Given the description of an element on the screen output the (x, y) to click on. 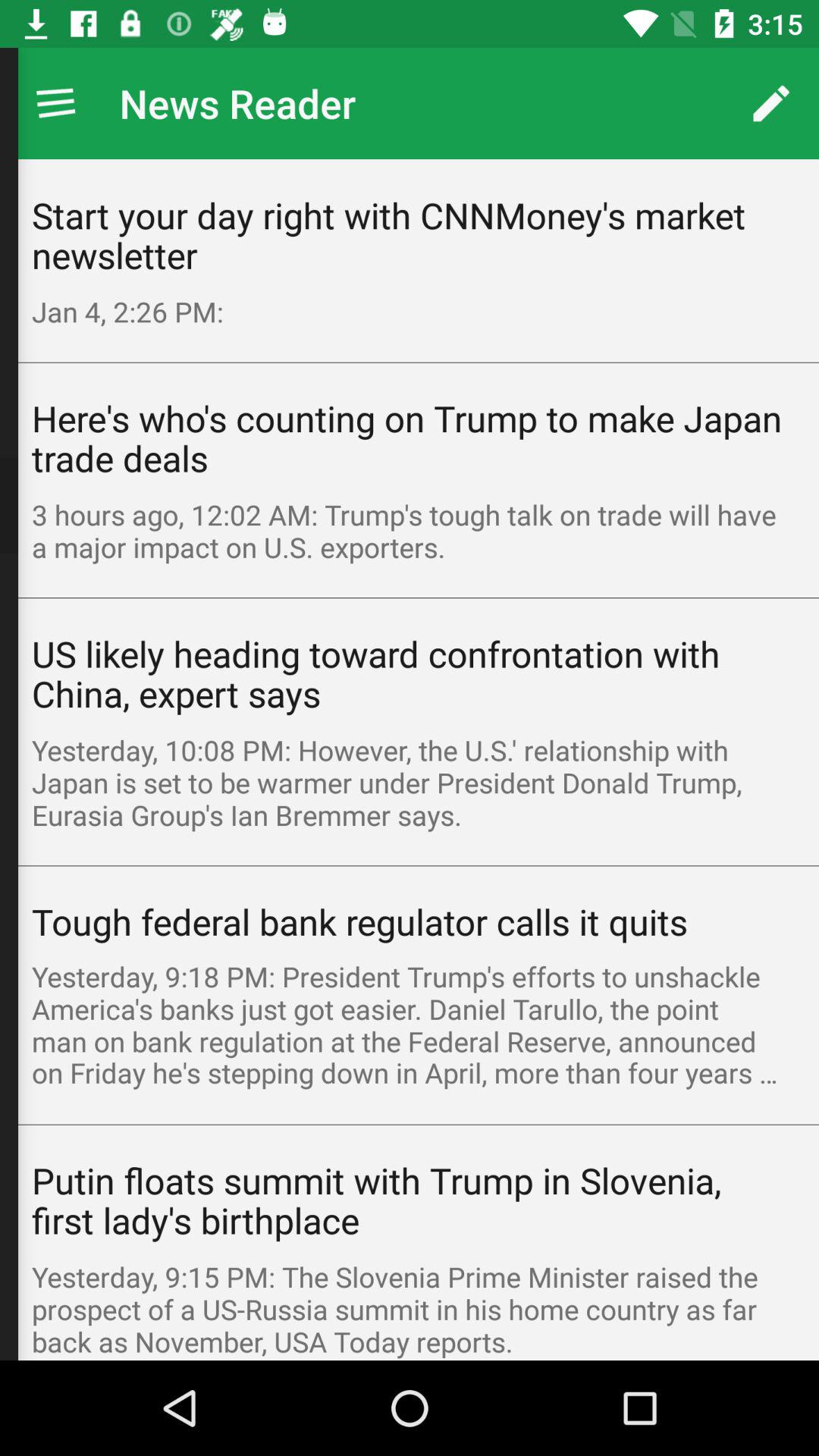
choose app next to news reader (771, 103)
